Given the description of an element on the screen output the (x, y) to click on. 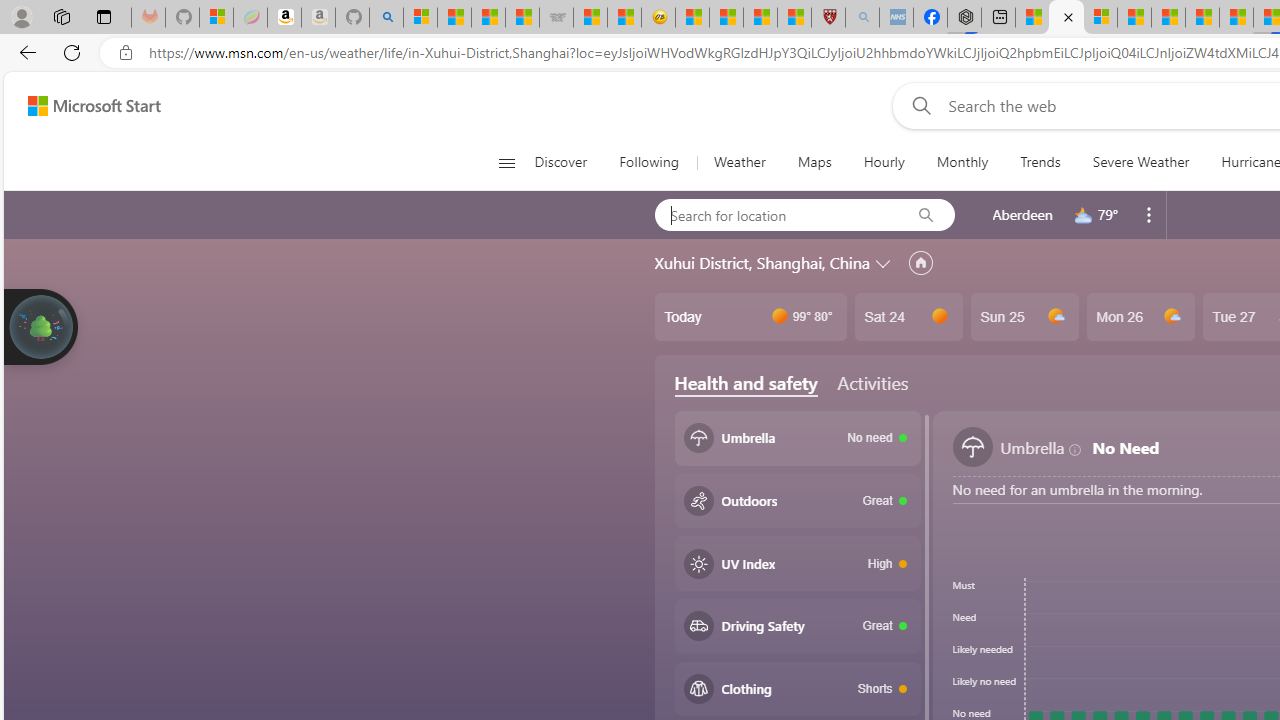
Remove location (1149, 214)
UV index High (797, 563)
Activities (872, 382)
Maps (813, 162)
